Given the description of an element on the screen output the (x, y) to click on. 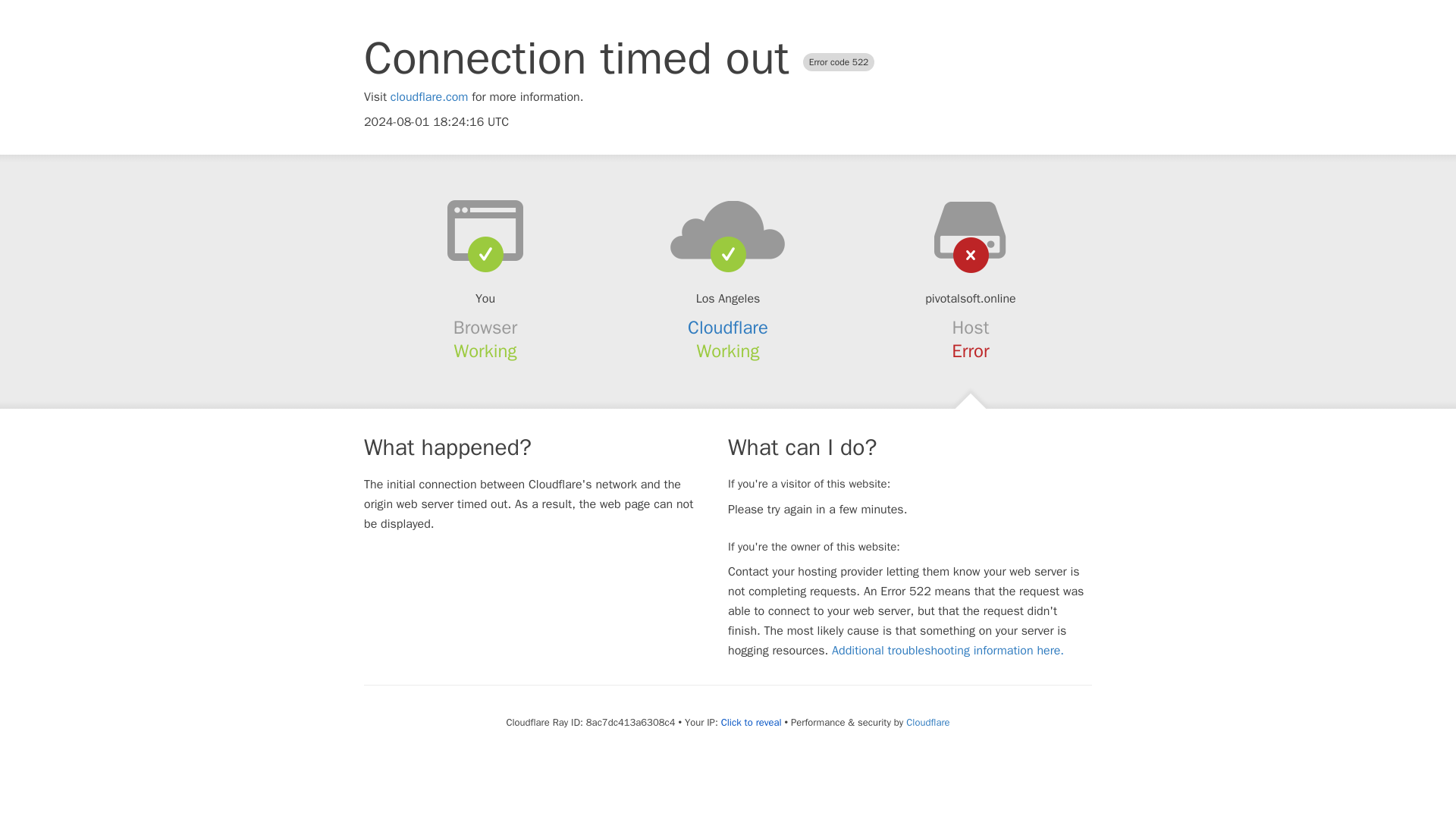
Cloudflare (927, 721)
cloudflare.com (429, 96)
Click to reveal (750, 722)
Additional troubleshooting information here. (947, 650)
Cloudflare (727, 327)
